Given the description of an element on the screen output the (x, y) to click on. 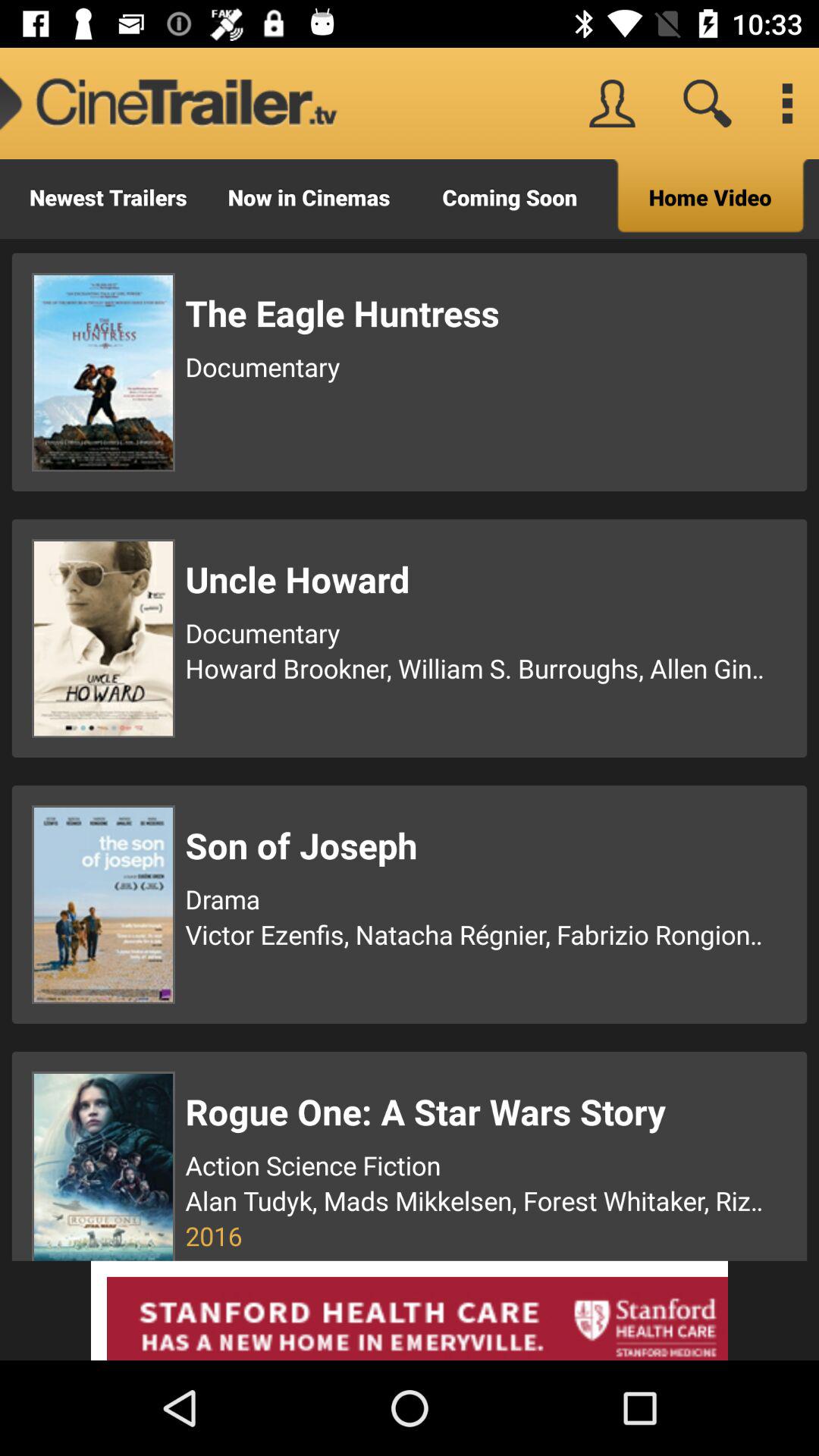
choose icon next to coming soon item (169, 103)
